Given the description of an element on the screen output the (x, y) to click on. 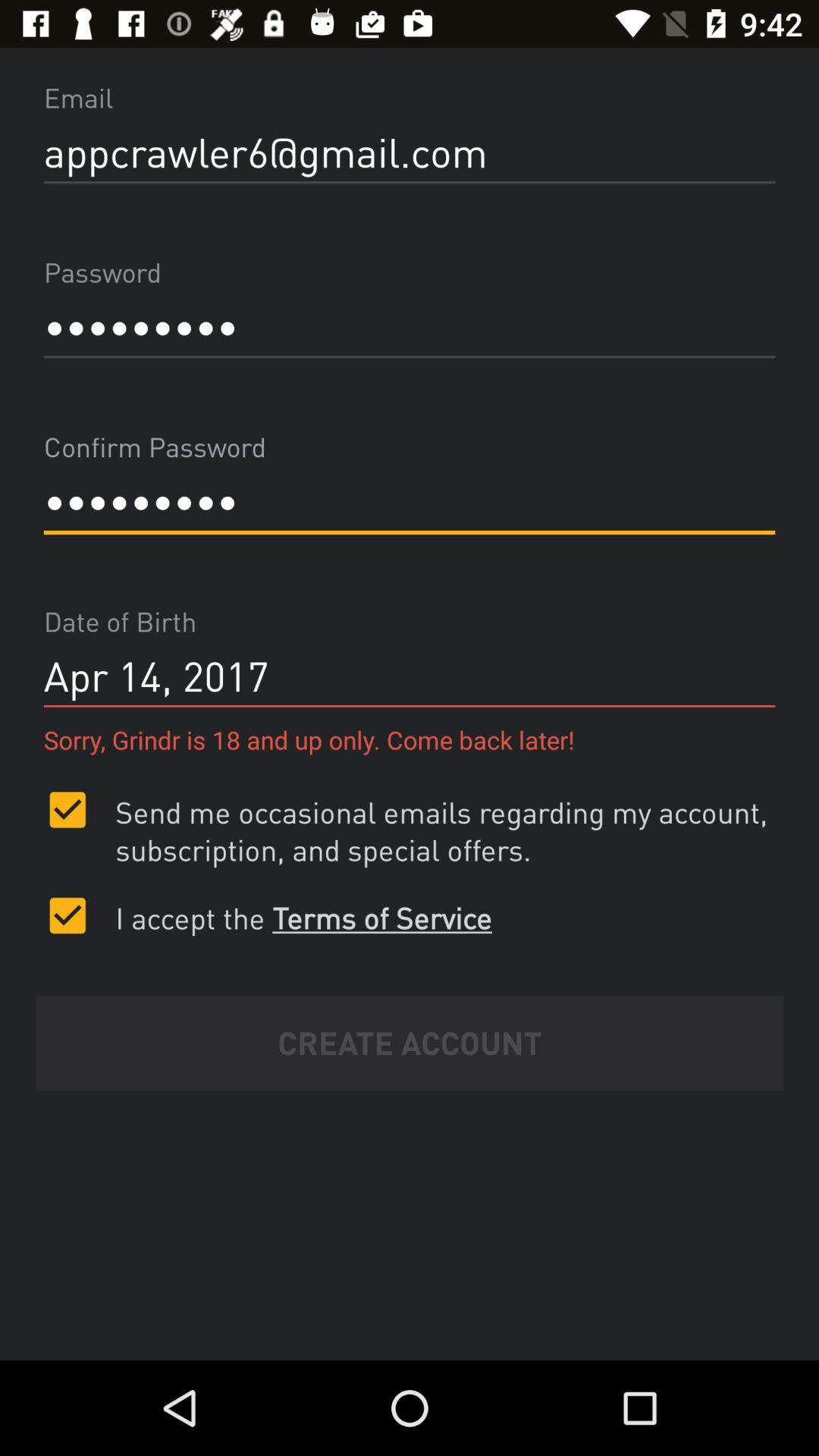
select accept the tam the condition (67, 915)
